Given the description of an element on the screen output the (x, y) to click on. 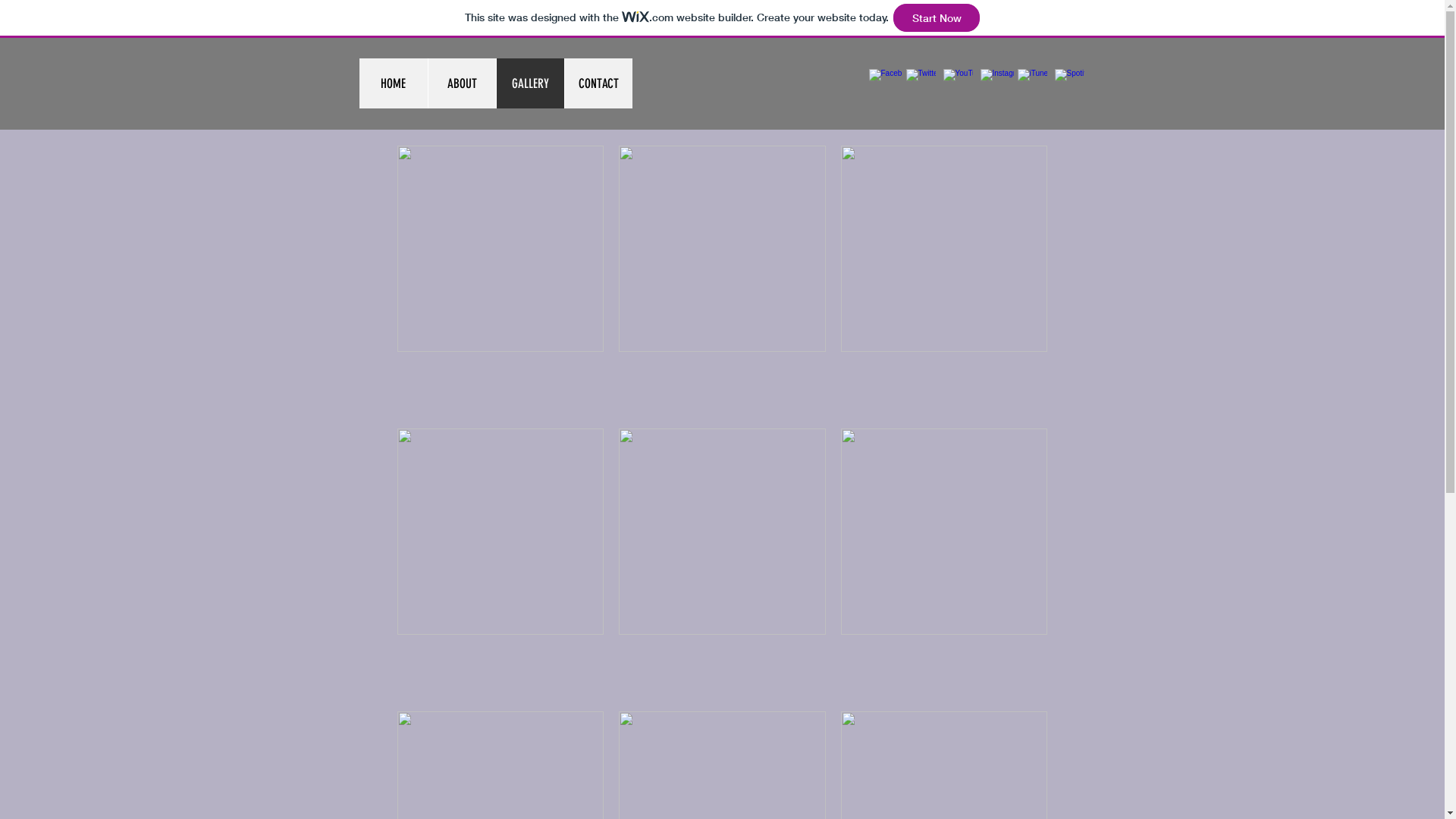
ABOUT Element type: text (461, 83)
GALLERY Element type: text (529, 83)
CONTACT Element type: text (598, 83)
HOME Element type: text (393, 83)
